Given the description of an element on the screen output the (x, y) to click on. 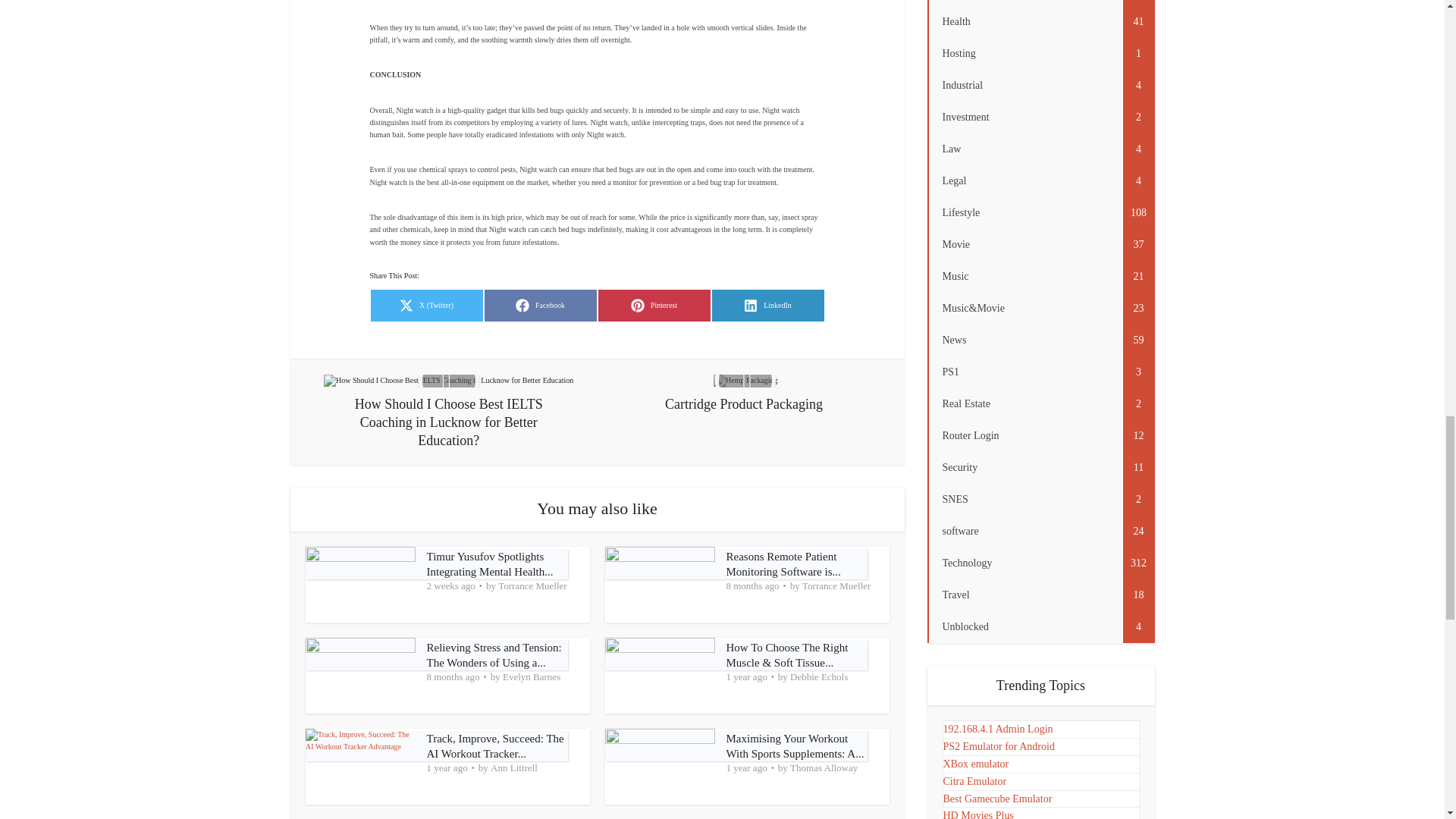
Relieving Stress and Tension: The Wonders of Using a... (539, 305)
Torrance Mueller (493, 655)
Timur Yusufov Spotlights Integrating Mental Health... (531, 586)
Reasons Remote Patient Monitoring Software is... (489, 564)
Evelyn Barnes (783, 564)
Torrance Mueller (531, 677)
Debbie Echols (836, 586)
